Given the description of an element on the screen output the (x, y) to click on. 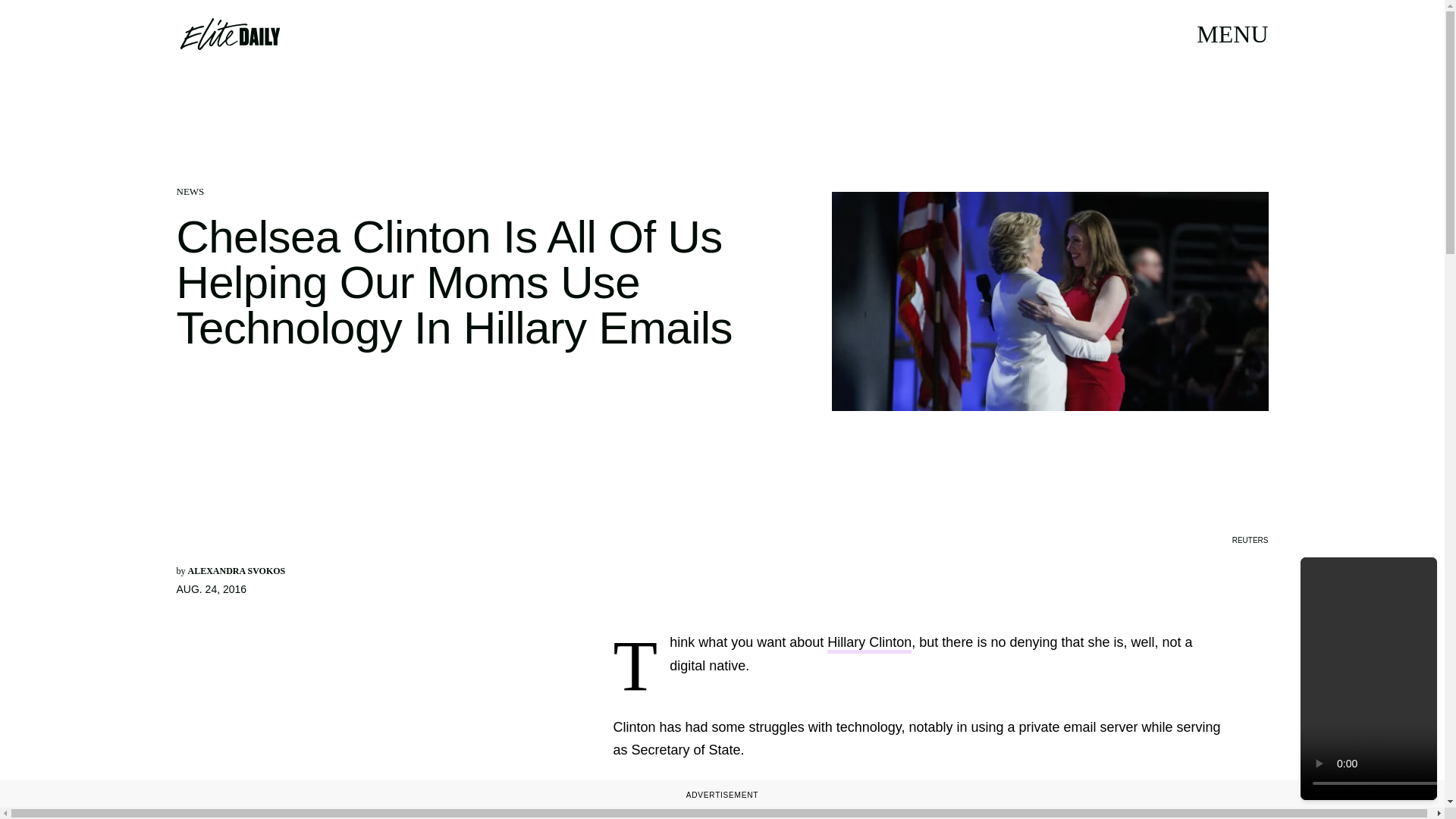
Hillary Clinton (869, 643)
Elite Daily (229, 33)
